Given the description of an element on the screen output the (x, y) to click on. 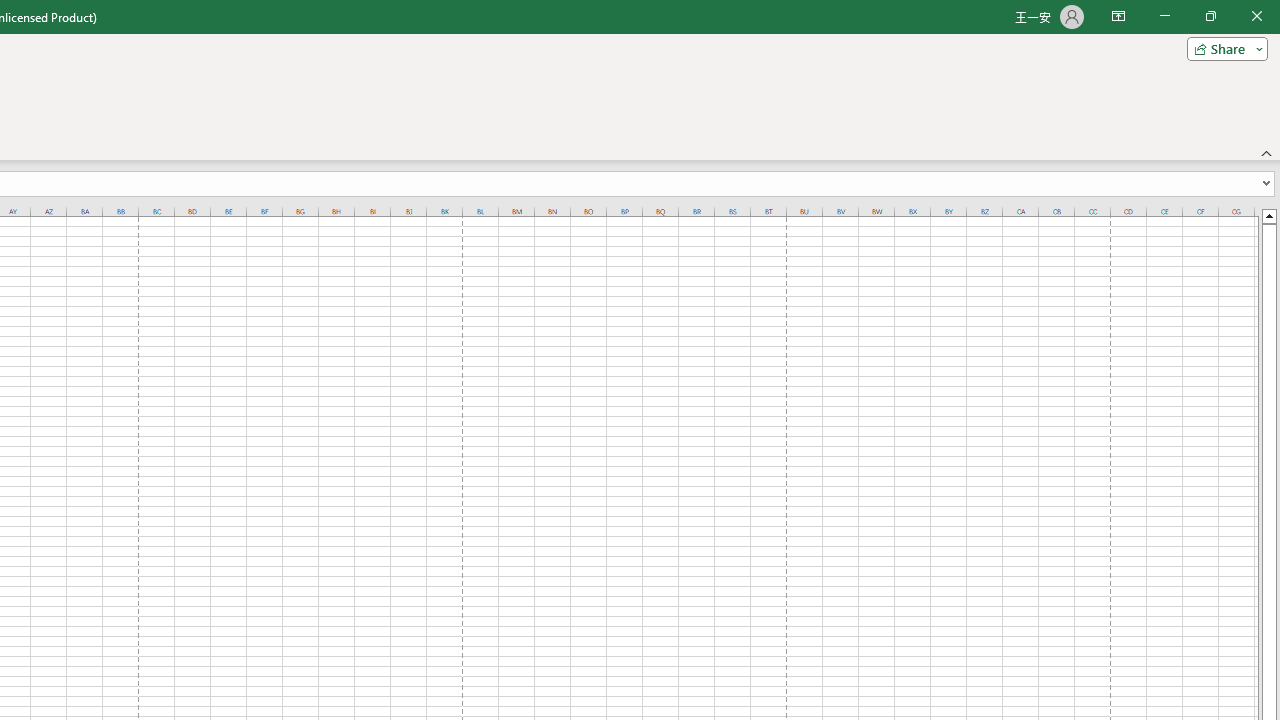
Collapse the Ribbon (1267, 152)
Share (1223, 48)
Line up (1268, 215)
Restore Down (1210, 16)
Minimize (1164, 16)
Ribbon Display Options (1118, 16)
